Given the description of an element on the screen output the (x, y) to click on. 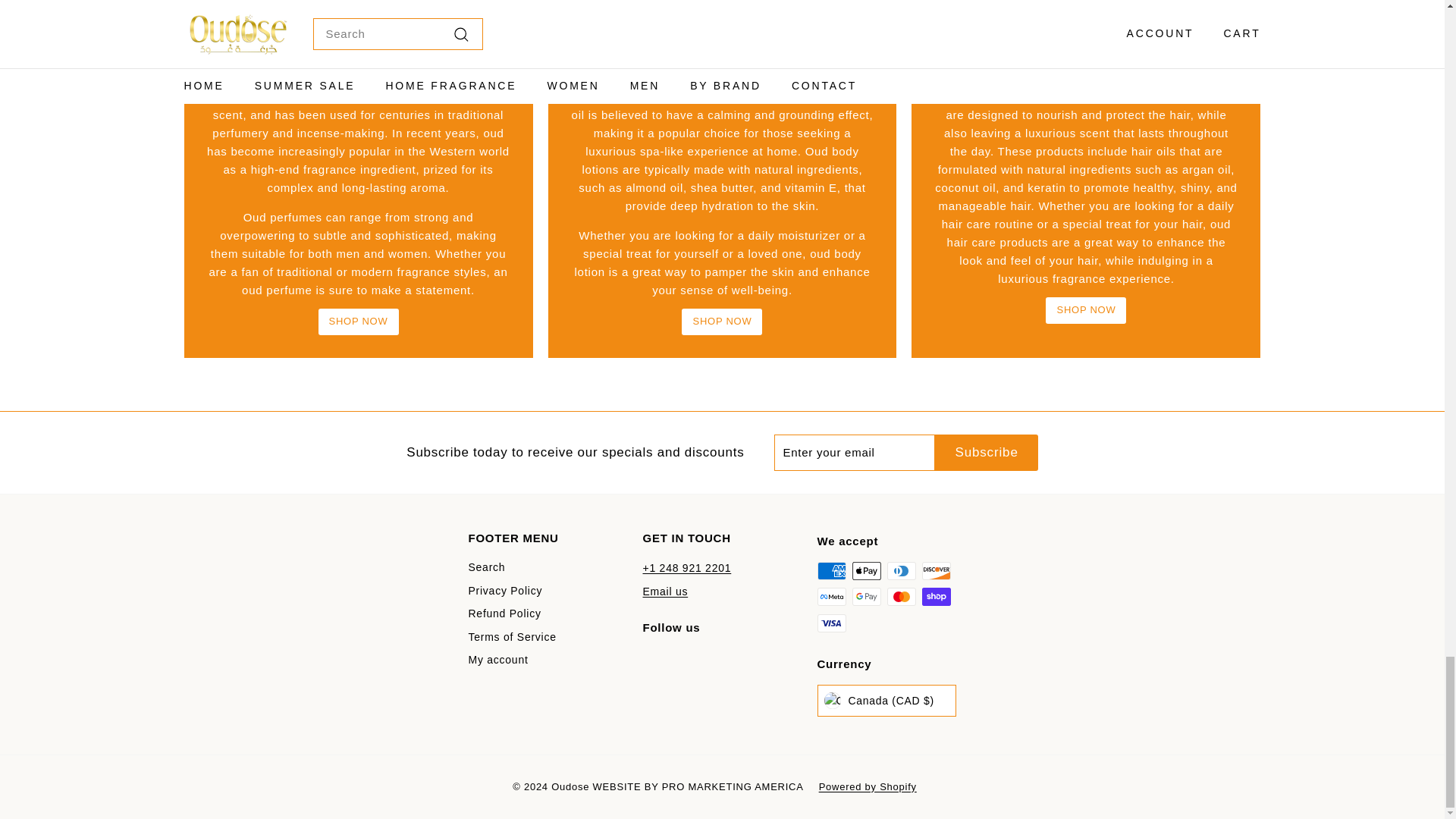
Mastercard (900, 597)
Google Pay (865, 597)
Meta Pay (830, 597)
Shop Pay (935, 597)
Diners Club (900, 570)
American Express (830, 570)
Visa (830, 623)
Apple Pay (865, 570)
Discover (935, 570)
